Given the description of an element on the screen output the (x, y) to click on. 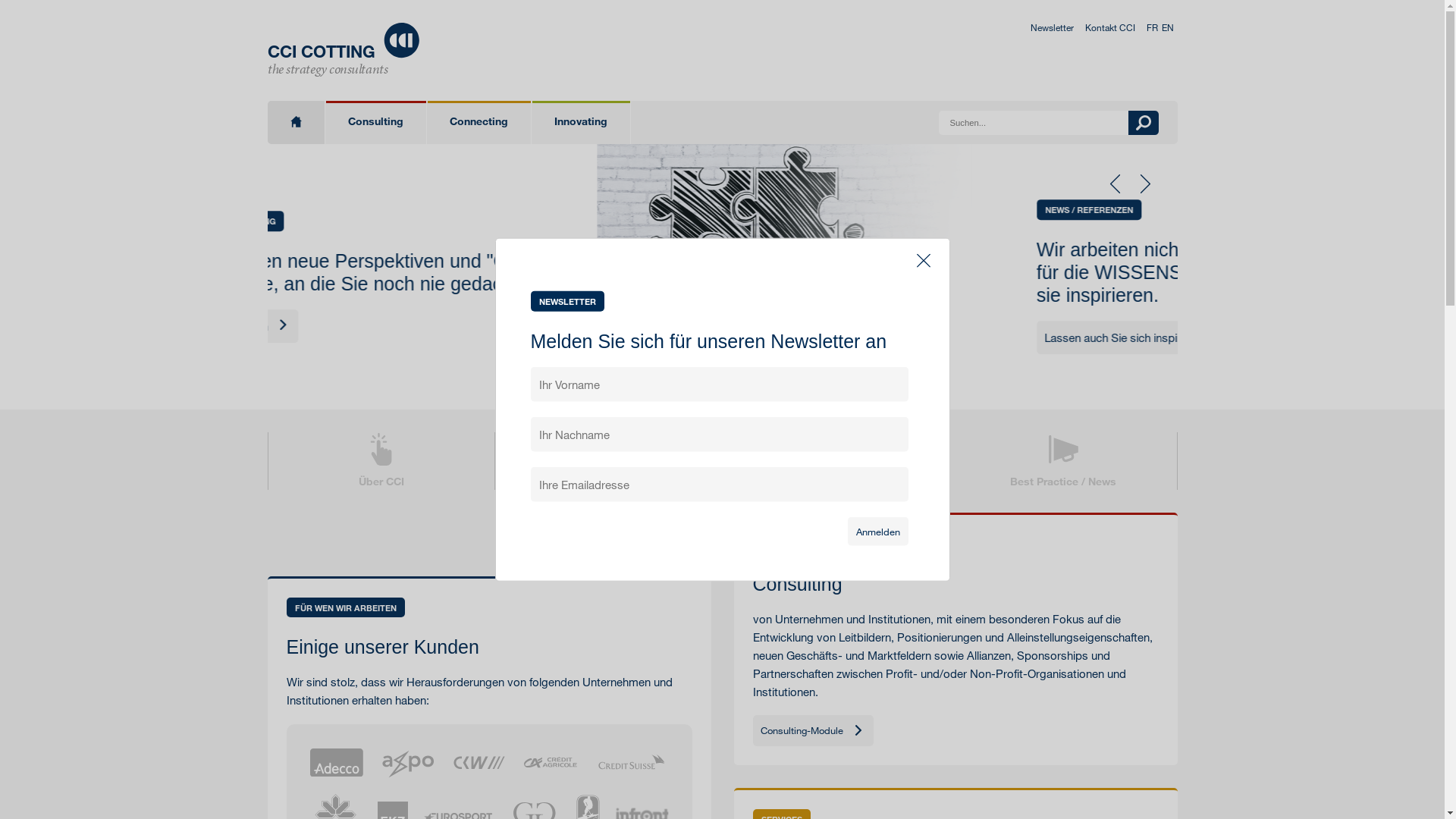
EN Element type: text (1167, 27)
Connecting Element type: text (478, 122)
Anmelden Element type: text (877, 530)
Kontakt CCI Element type: text (1109, 26)
the strategy consultants
CCI COTTING Element type: text (342, 50)
Consulting-Module Element type: text (812, 730)
Services Element type: text (607, 460)
Newsletter Element type: text (1051, 26)
Innovating Element type: text (580, 122)
Be part of CCI Element type: text (835, 460)
FR Element type: text (1151, 27)
Consulting Element type: text (375, 122)
Best Practice / News Element type: text (1062, 460)
